Given the description of an element on the screen output the (x, y) to click on. 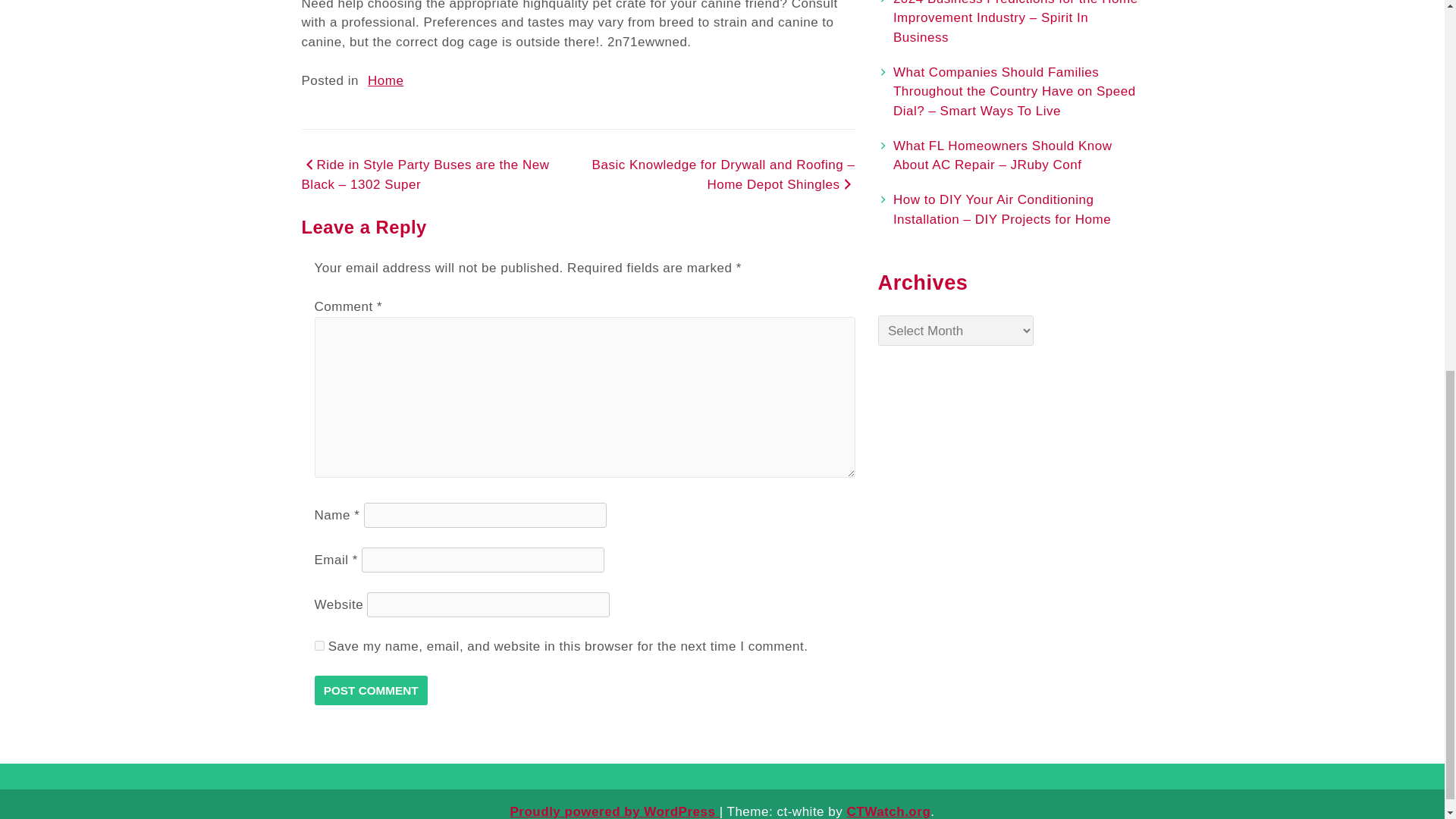
Post Comment (370, 690)
yes (318, 645)
Home (385, 80)
Post Comment (370, 690)
